Given the description of an element on the screen output the (x, y) to click on. 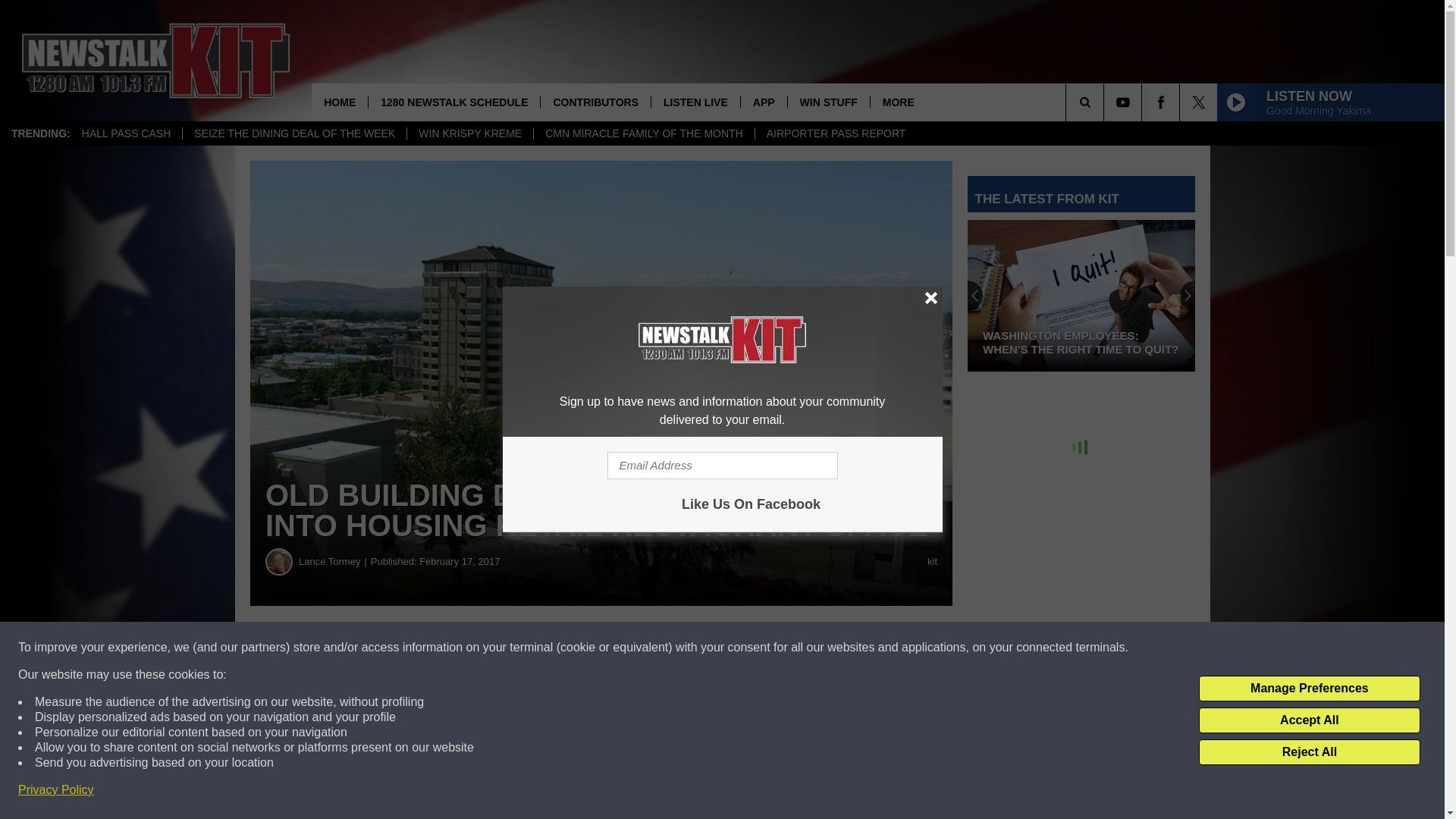
Accept All (1309, 720)
LISTEN LIVE (694, 102)
CMN MIRACLE FAMILY OF THE MONTH (643, 133)
SEARCH (1106, 102)
HALL PASS CASH (126, 133)
AIRPORTER PASS REPORT (835, 133)
Share on Facebook (460, 647)
Reject All (1309, 751)
Manage Preferences (1309, 688)
HOME (339, 102)
Email Address (722, 465)
SEIZE THE DINING DEAL OF THE WEEK (294, 133)
WIN KRISPY KREME (469, 133)
Share on Twitter (741, 647)
SEARCH (1106, 102)
